Given the description of an element on the screen output the (x, y) to click on. 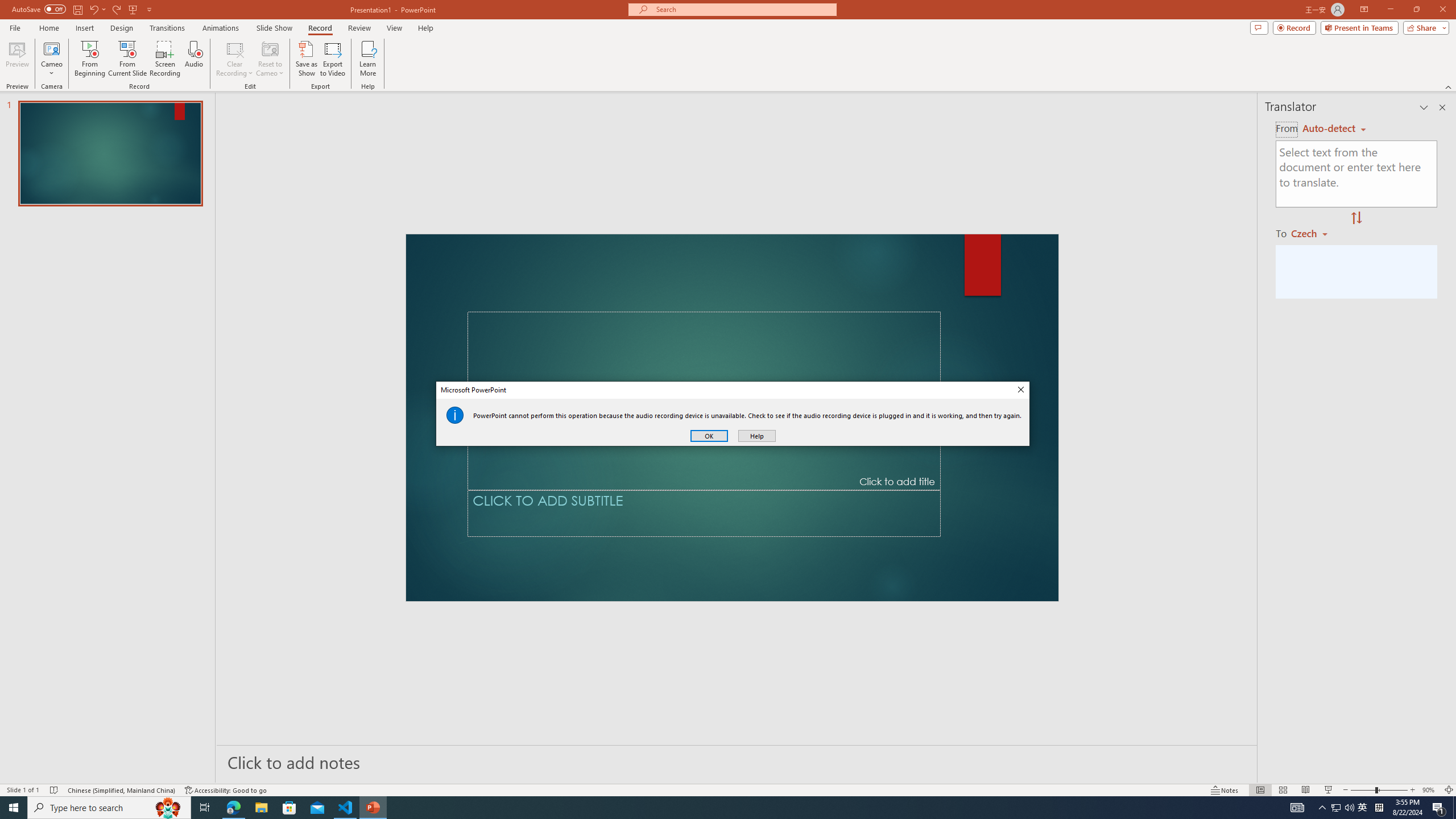
Class: Static (454, 415)
